Given the description of an element on the screen output the (x, y) to click on. 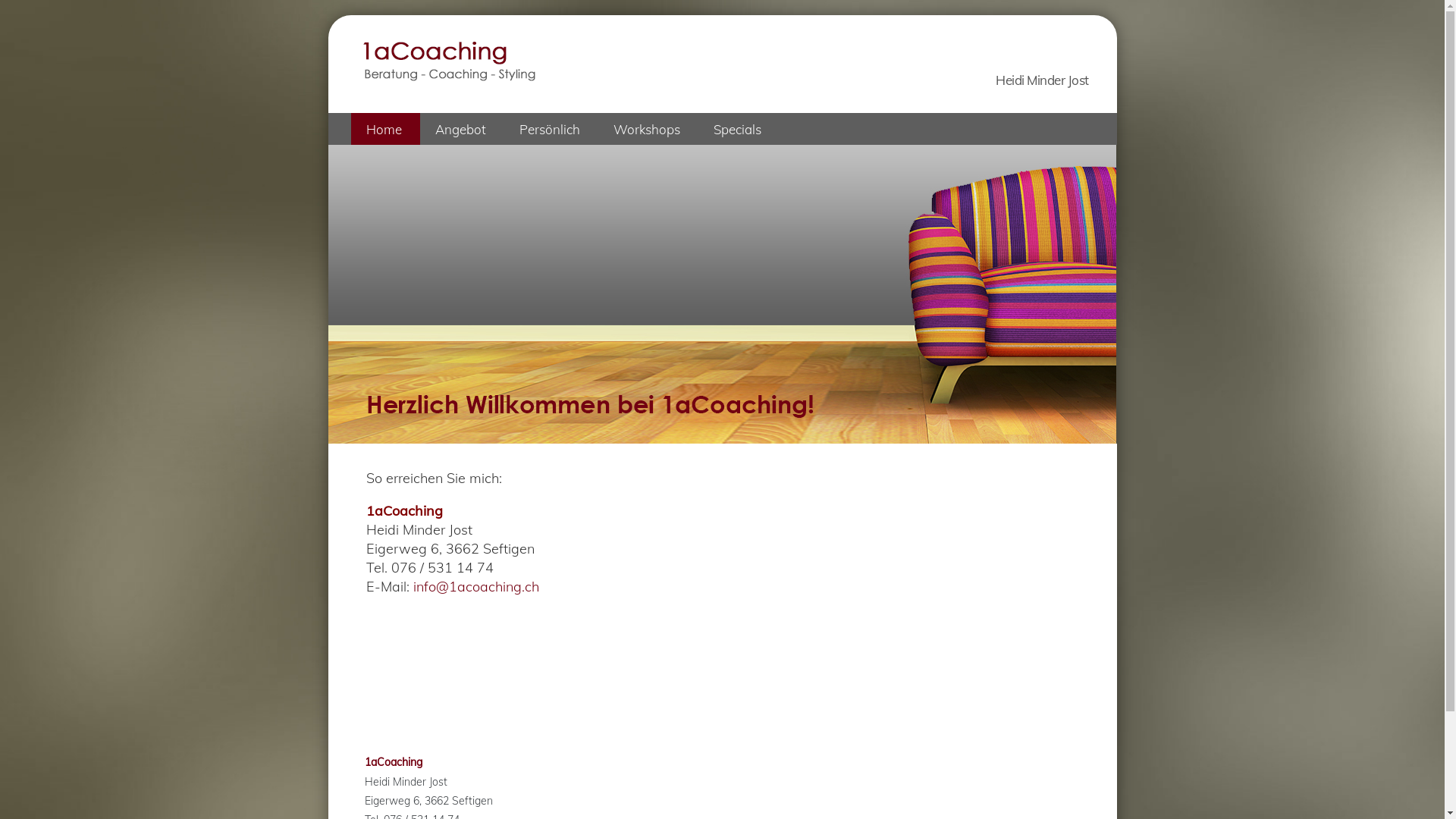
Angebot Element type: text (462, 128)
Workshops Element type: text (647, 128)
Skip to content Element type: text (364, 122)
info@1acoaching.ch Element type: text (475, 586)
Home Element type: text (384, 128)
Specials Element type: text (737, 128)
